Given the description of an element on the screen output the (x, y) to click on. 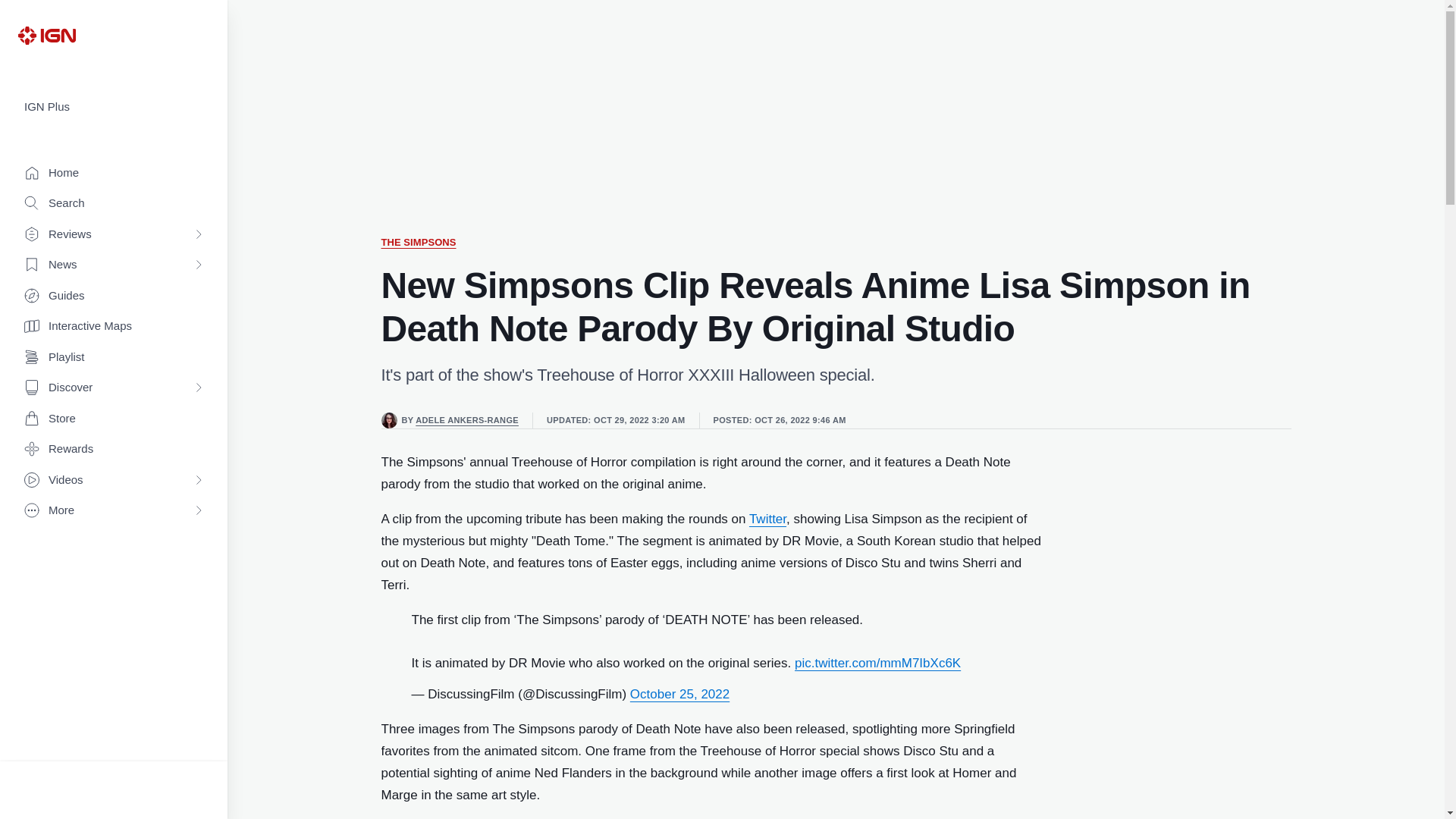
IGN Logo (46, 35)
Guides (113, 295)
Videos (113, 480)
Rewards (113, 449)
Rewards (113, 449)
Guides (113, 295)
Videos (113, 480)
More (113, 510)
Store (113, 418)
IGN (46, 35)
